Given the description of an element on the screen output the (x, y) to click on. 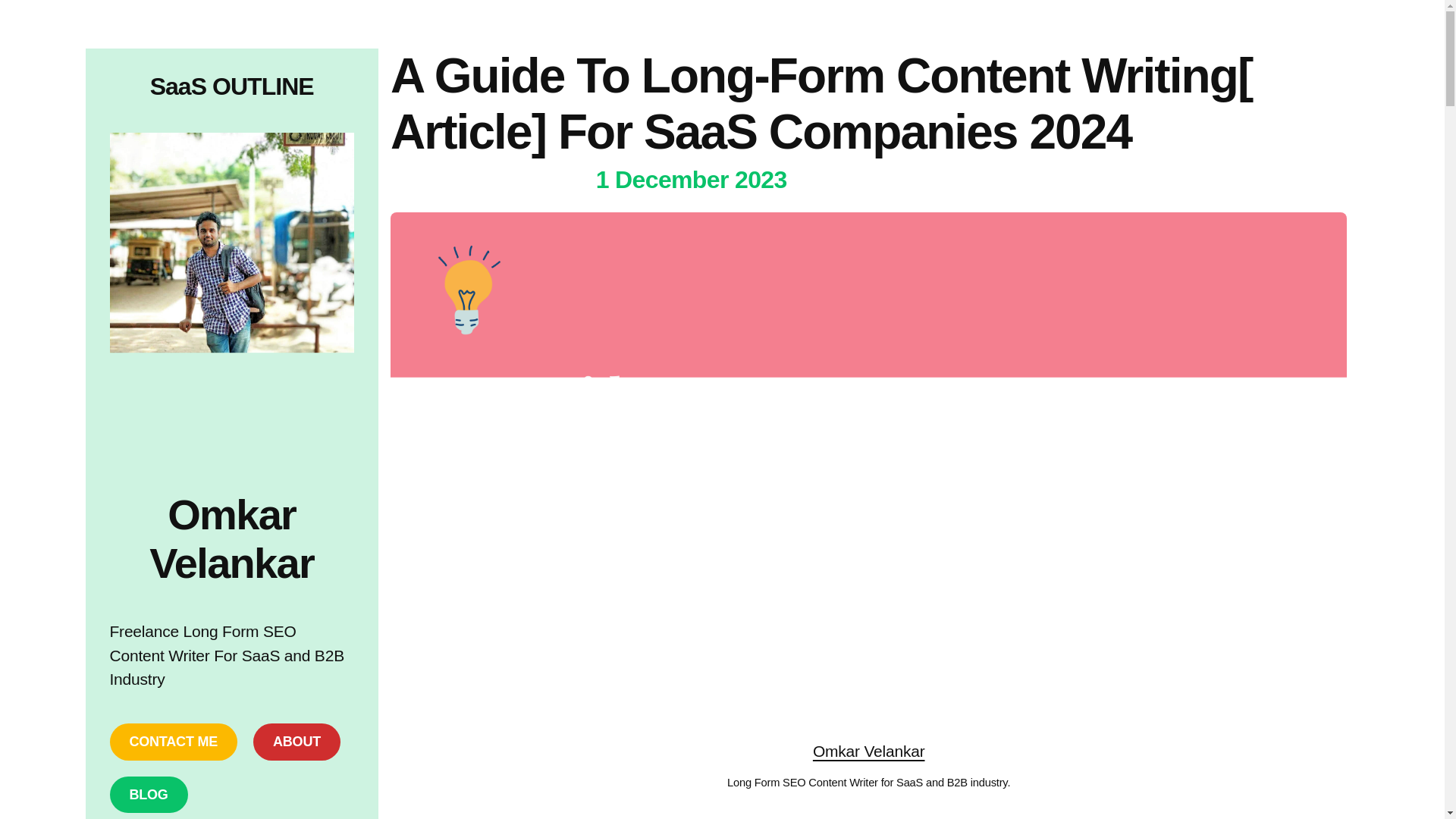
ABOUT (296, 741)
BLOG (148, 795)
CONTACT ME (173, 741)
Omkar Velankar (868, 751)
SaaS OUTLINE (231, 85)
